Given the description of an element on the screen output the (x, y) to click on. 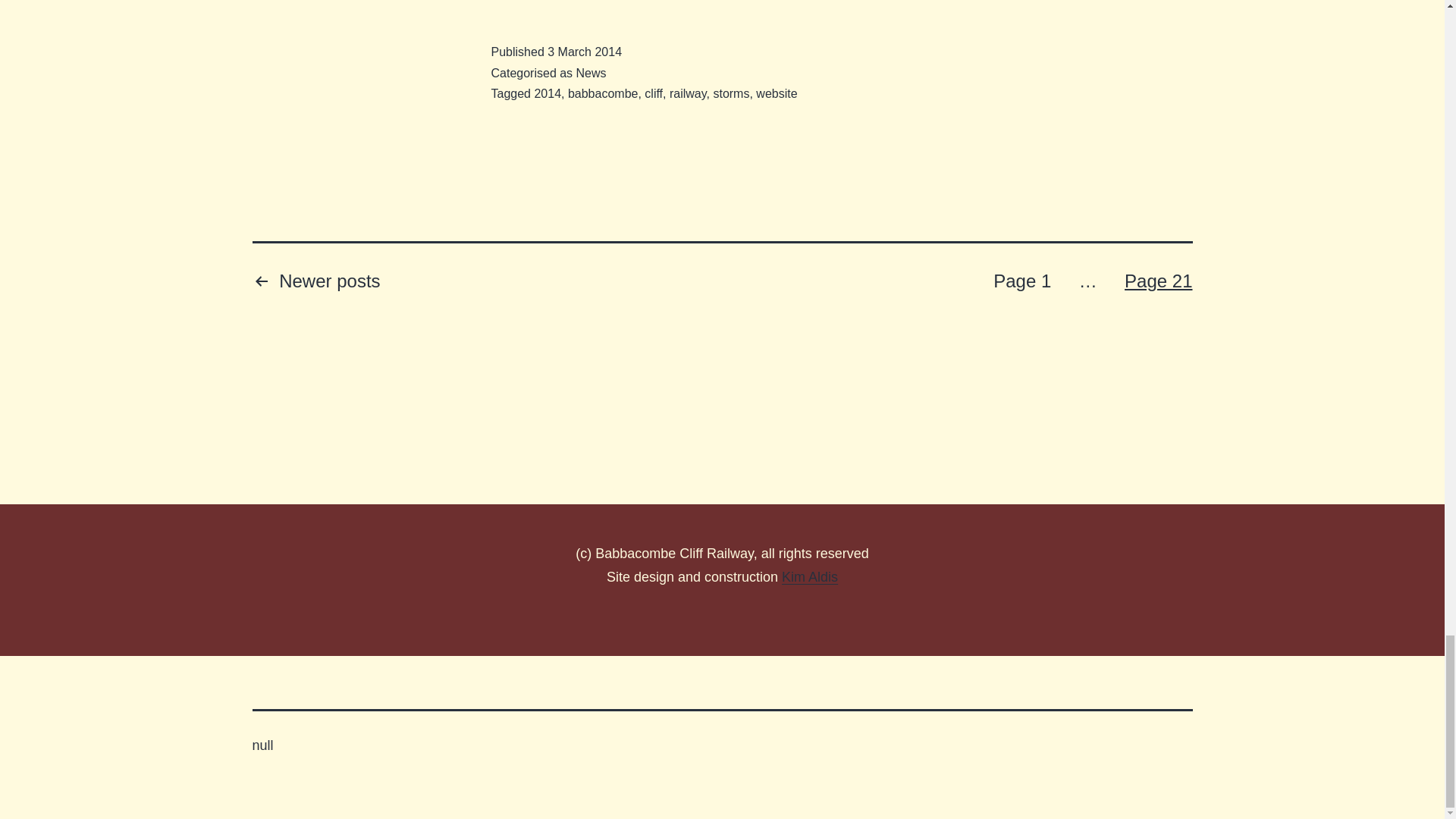
News (591, 72)
railway (687, 92)
storms (731, 92)
2014 (547, 92)
cliff (653, 92)
babbacombe (603, 92)
